Given the description of an element on the screen output the (x, y) to click on. 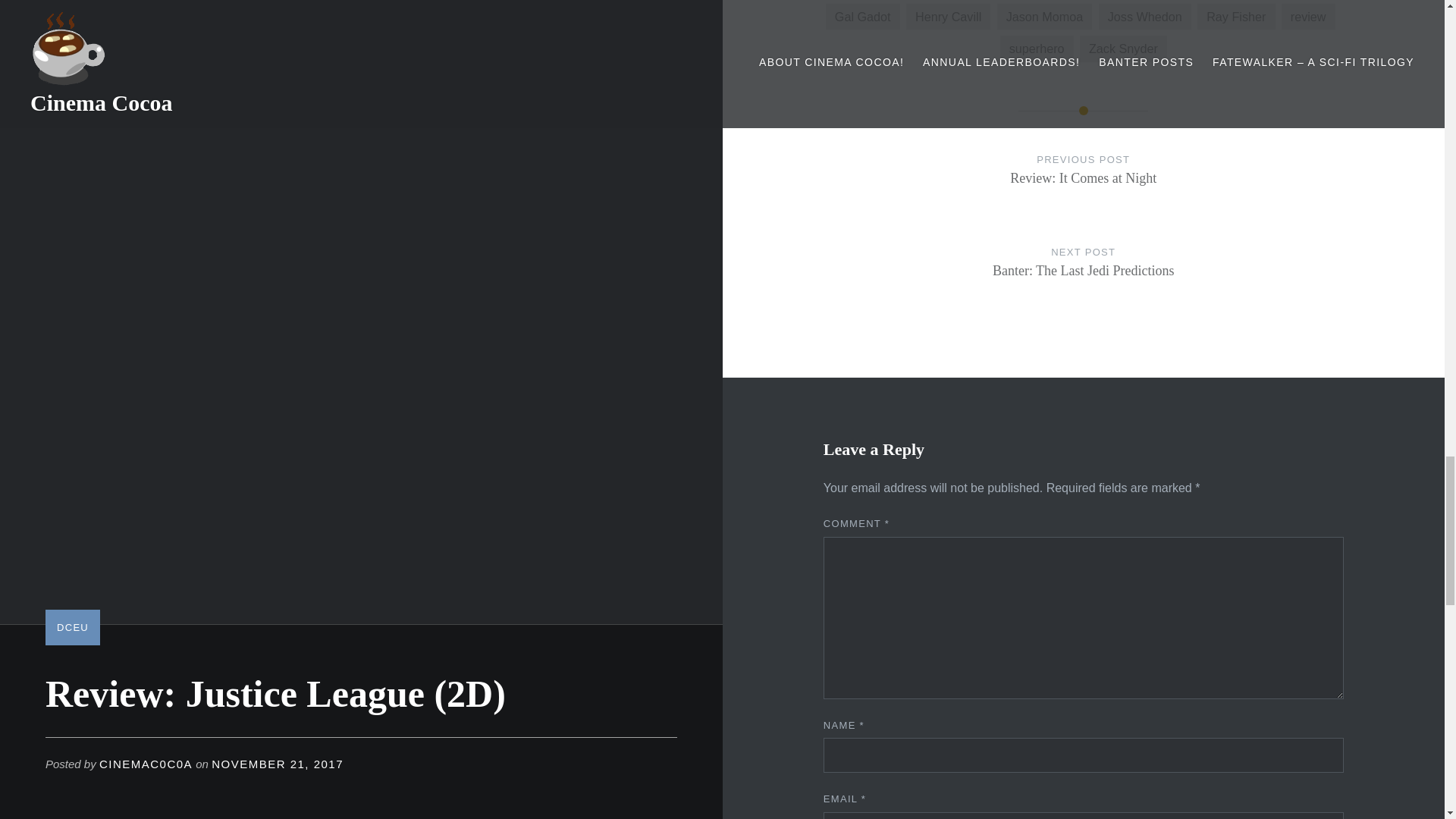
Jason Momoa (1083, 184)
Henry Cavill (1043, 16)
superhero (1083, 276)
review (948, 16)
Joss Whedon (1037, 48)
Gal Gadot (1308, 16)
Zack Snyder (1145, 16)
Ray Fisher (862, 16)
